Given the description of an element on the screen output the (x, y) to click on. 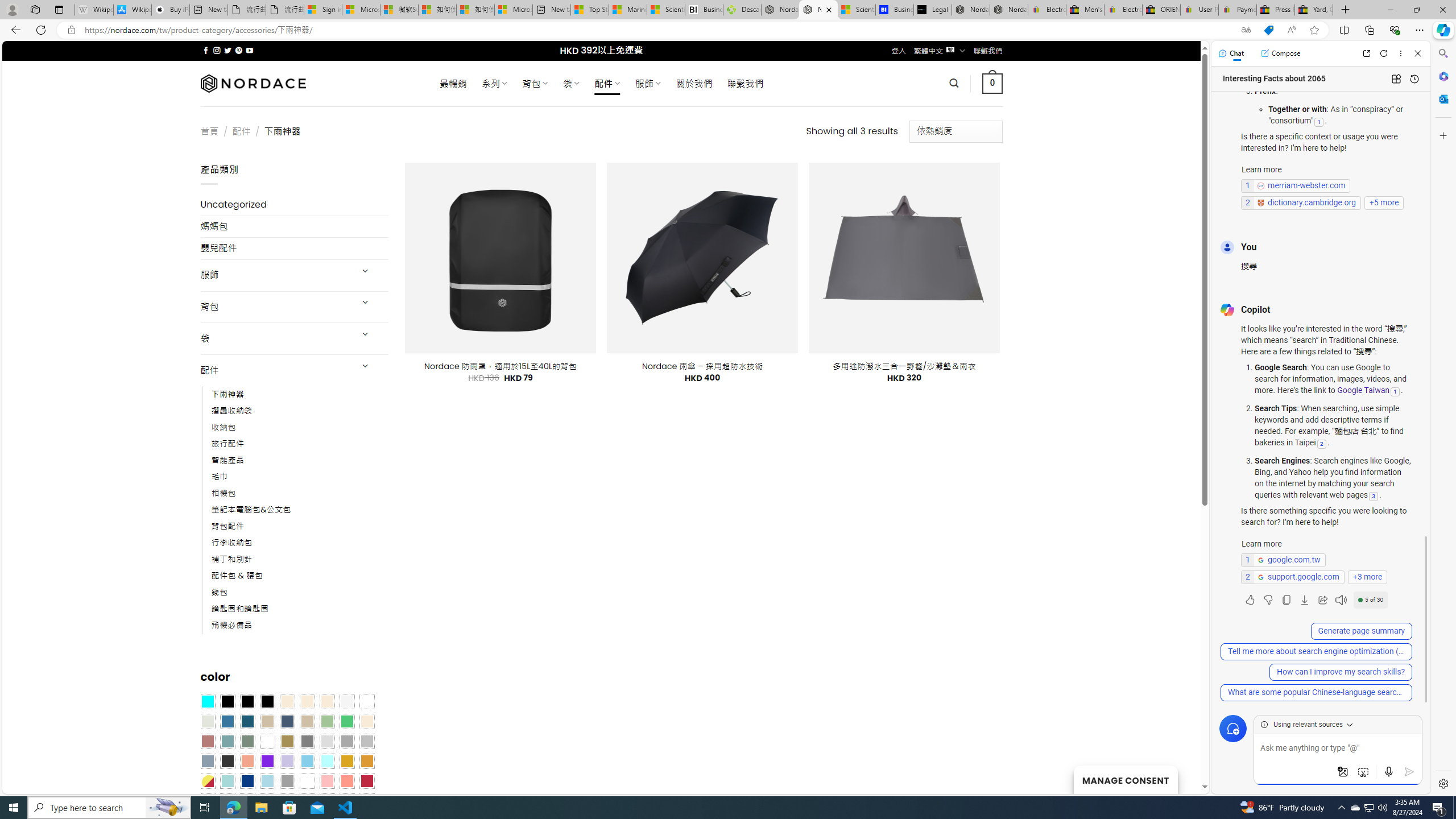
Microsoft account | Account Checkup (513, 9)
Chat (1231, 52)
Follow on Instagram (216, 50)
